Given the description of an element on the screen output the (x, y) to click on. 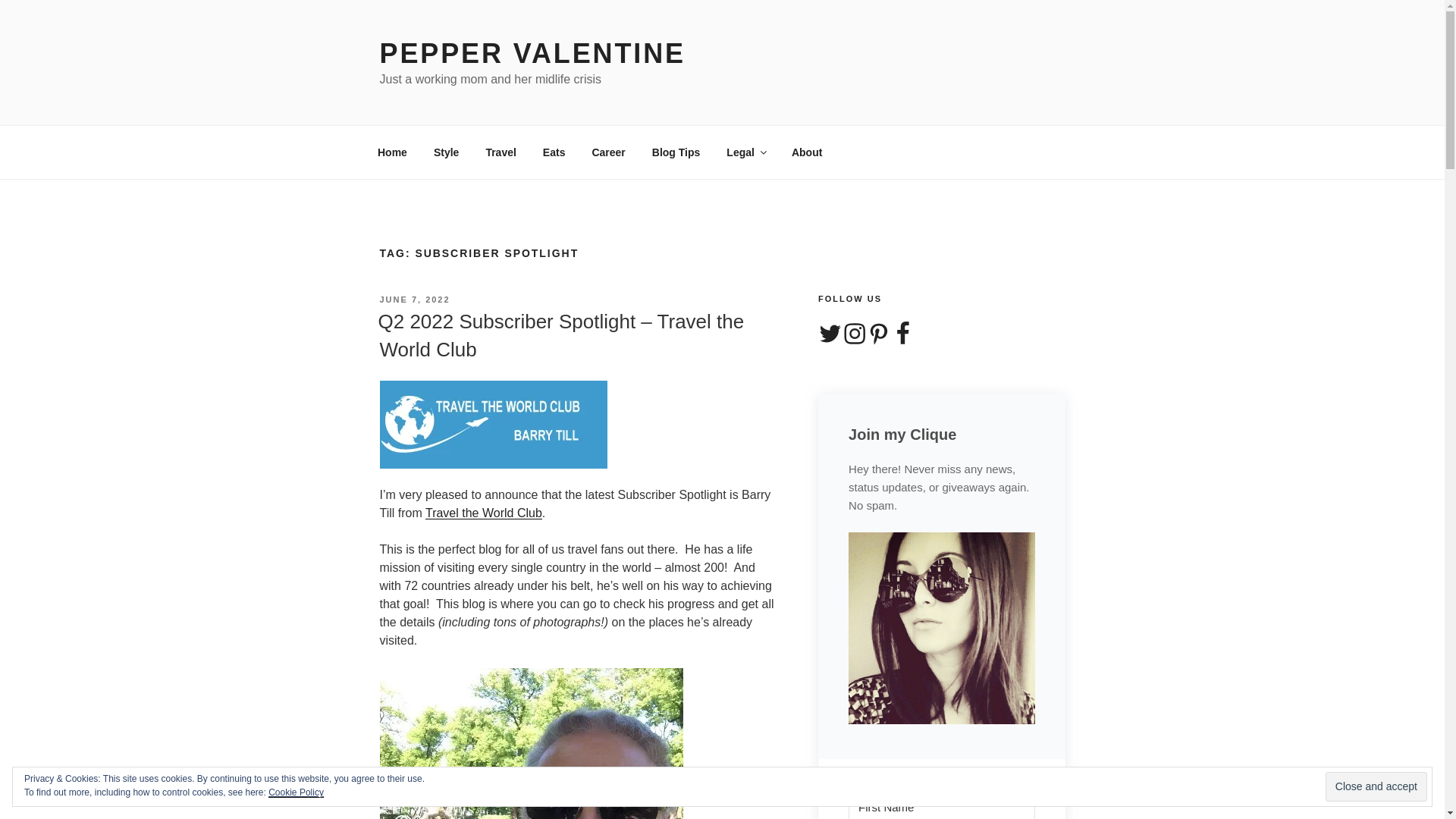
JUNE 7, 2022 (413, 298)
Eats (553, 151)
Career (608, 151)
Close and accept (1375, 786)
Blog Tips (676, 151)
Home (392, 151)
Twitter (830, 333)
Legal (745, 151)
Travel (500, 151)
Style (445, 151)
Pinterest (878, 333)
PEPPER VALENTINE (531, 52)
About (805, 151)
Travel the World Club (483, 512)
Instagram (854, 333)
